Given the description of an element on the screen output the (x, y) to click on. 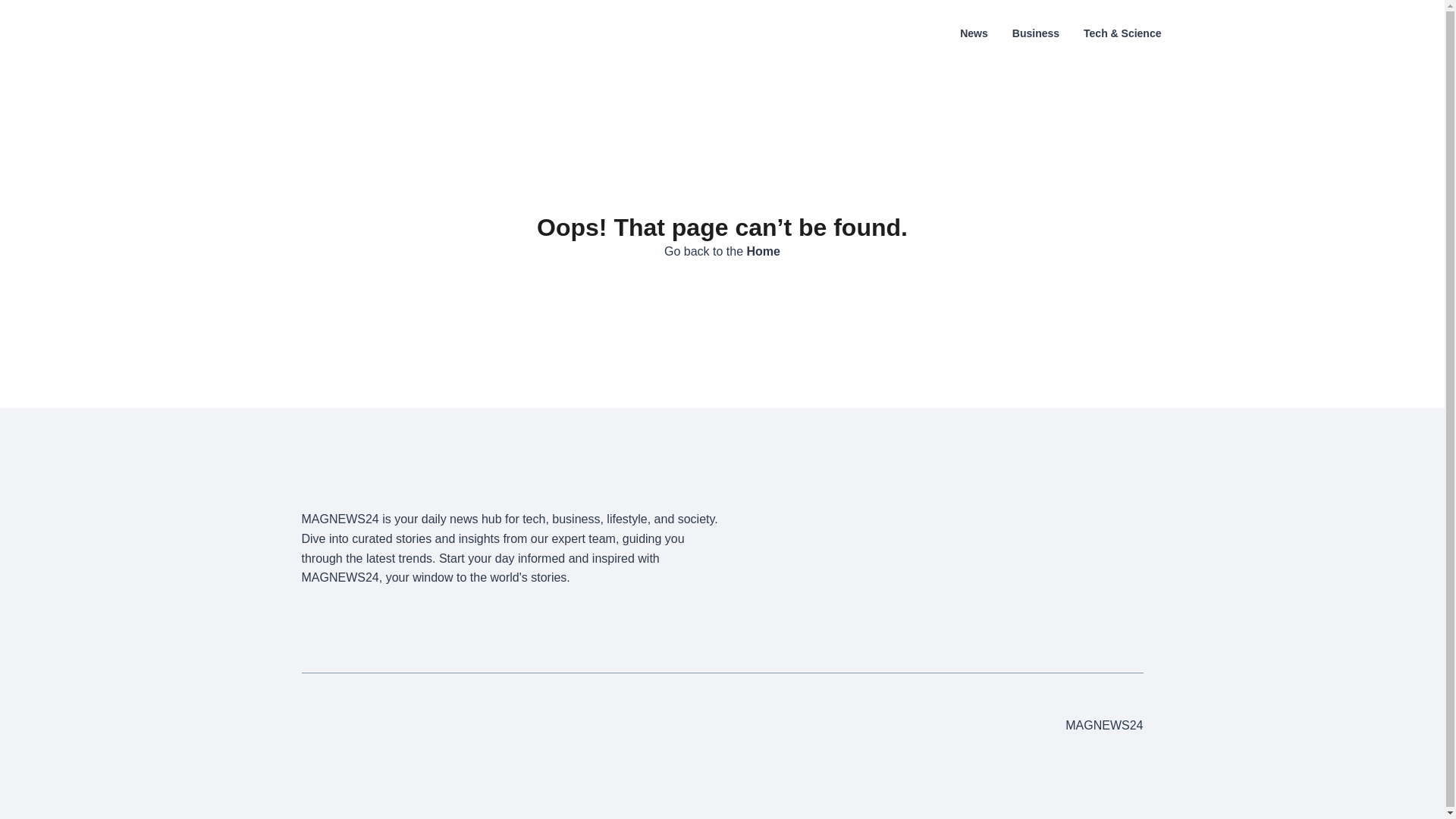
Business (1035, 33)
News (973, 33)
Home (763, 250)
